Given the description of an element on the screen output the (x, y) to click on. 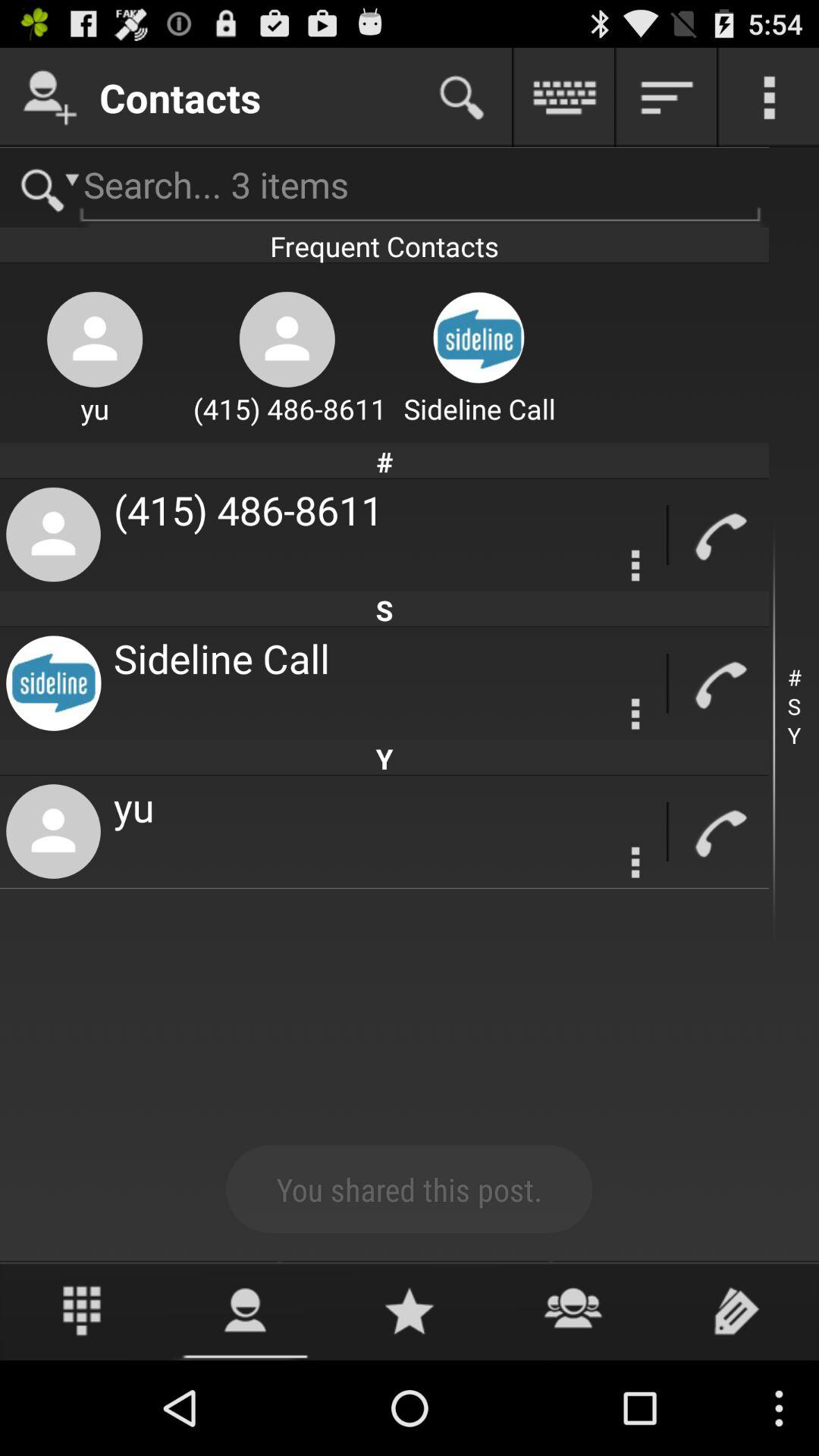
menu page (769, 97)
